Given the description of an element on the screen output the (x, y) to click on. 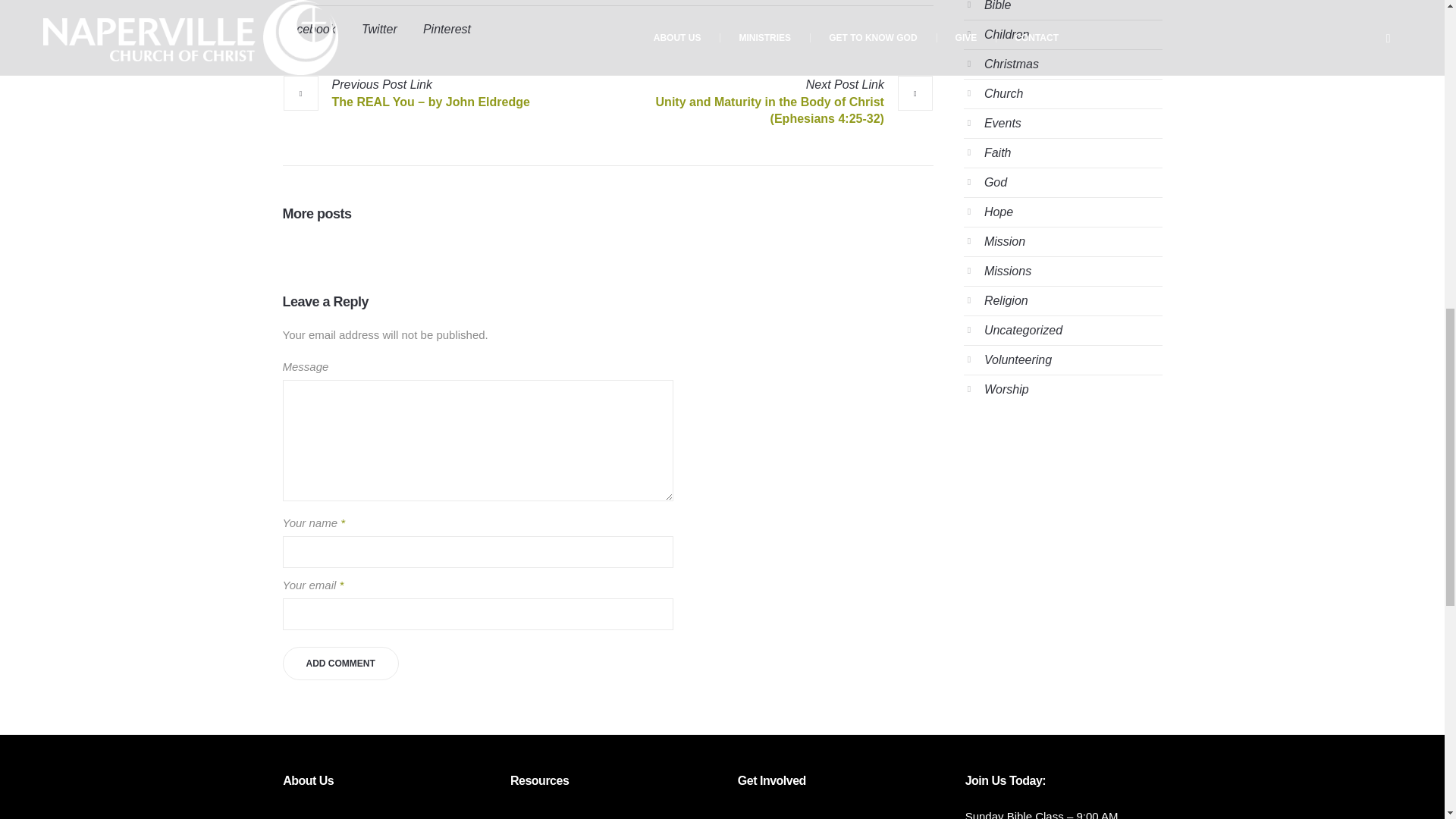
Add Comment (339, 663)
Add Comment (339, 663)
Facebook (308, 29)
Twitter (379, 29)
Pinterest (446, 29)
